Given the description of an element on the screen output the (x, y) to click on. 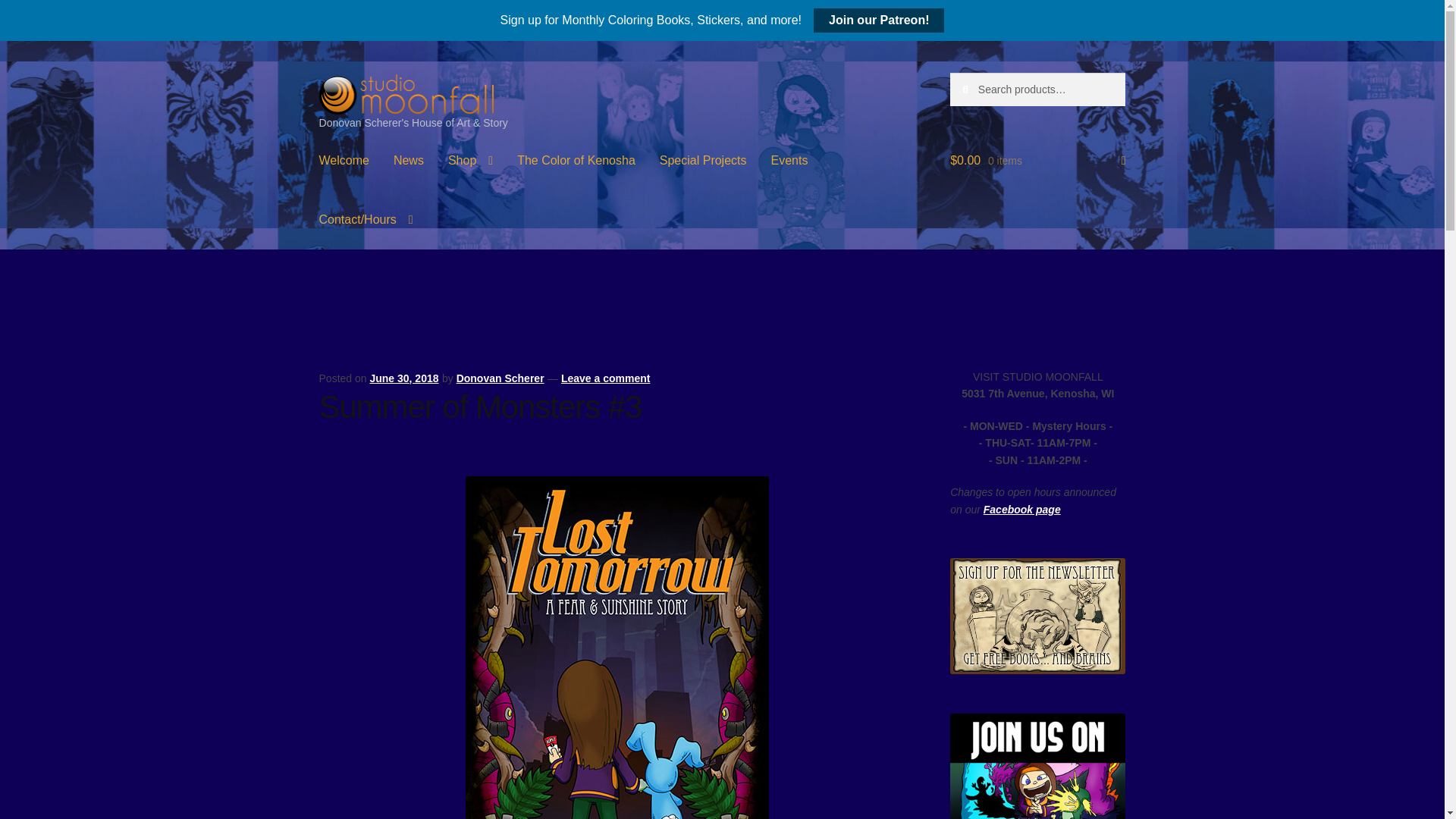
Welcome (344, 160)
View your shopping cart (1037, 160)
Events (789, 160)
Join our Patreon! (878, 20)
News (408, 160)
Special Projects (702, 160)
Studio Moonfall (405, 92)
Shop (470, 160)
